Given the description of an element on the screen output the (x, y) to click on. 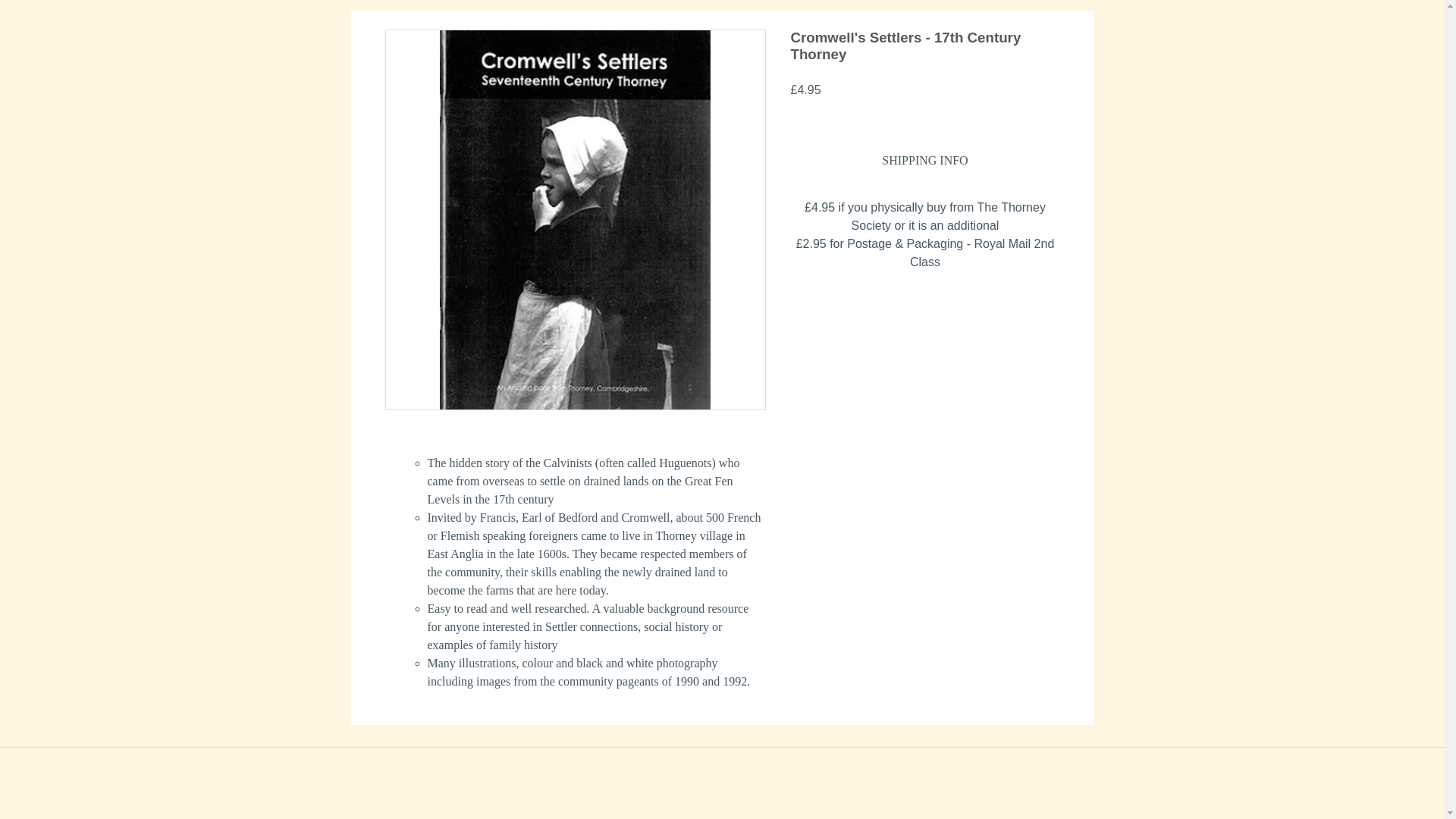
Use right and left arrows to navigate between tabs (924, 160)
